Given the description of an element on the screen output the (x, y) to click on. 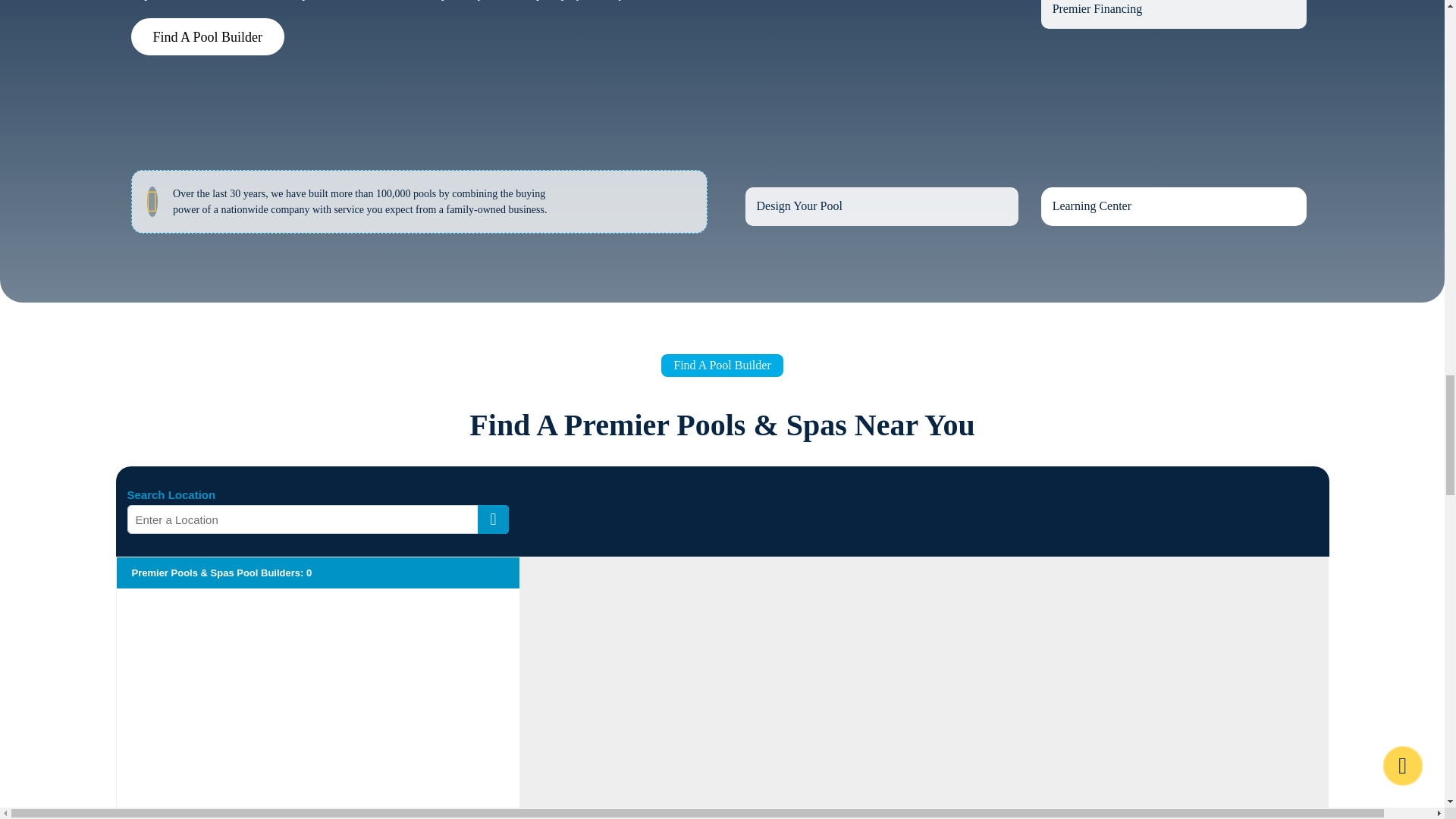
Current Location (492, 519)
